Given the description of an element on the screen output the (x, y) to click on. 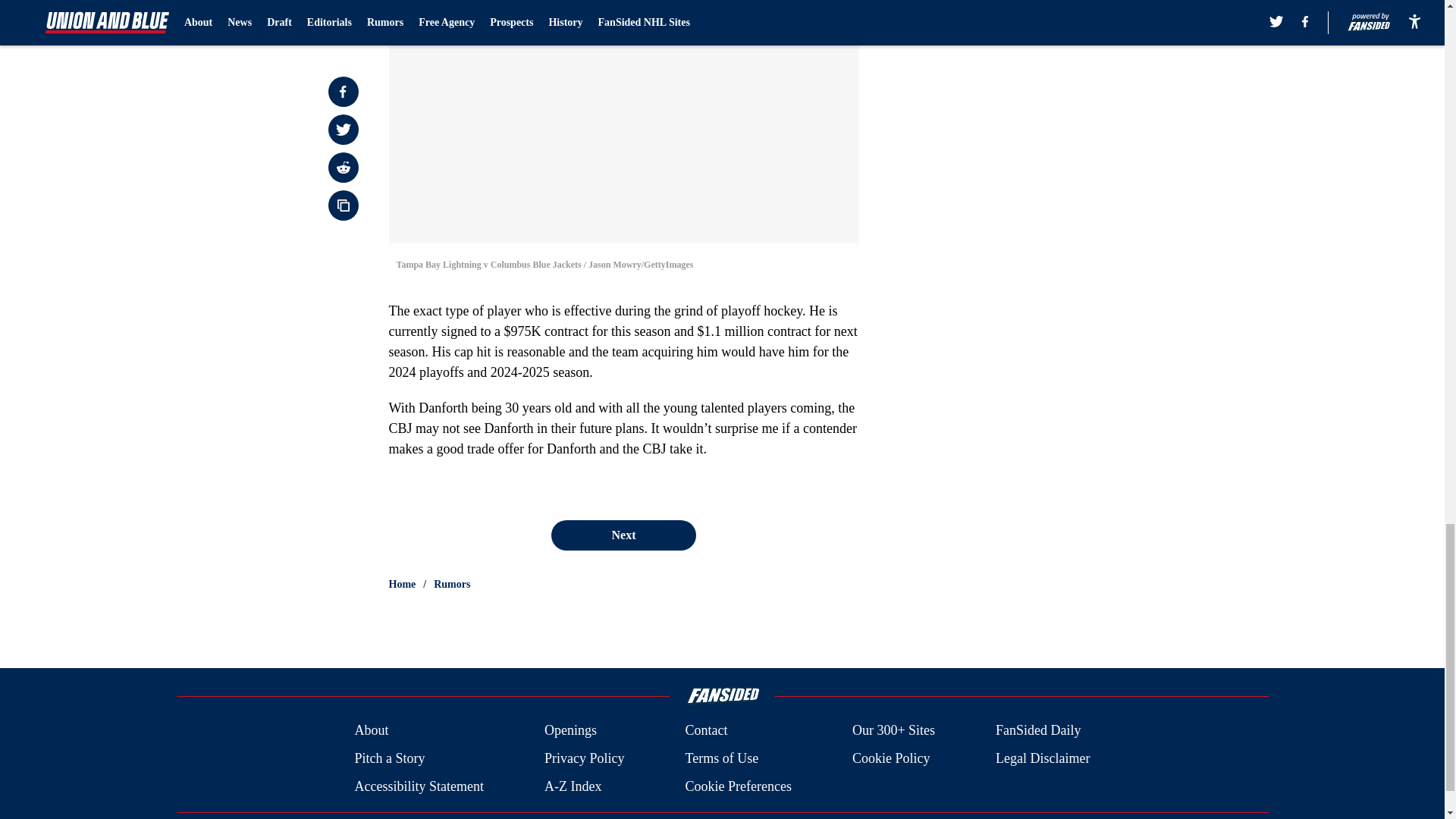
Accessibility Statement (418, 786)
Pitch a Story (389, 758)
A-Z Index (572, 786)
Openings (570, 730)
Legal Disclaimer (1042, 758)
Rumors (451, 584)
Home (401, 584)
Next (622, 535)
Cookie Policy (890, 758)
Contact (705, 730)
